Given the description of an element on the screen output the (x, y) to click on. 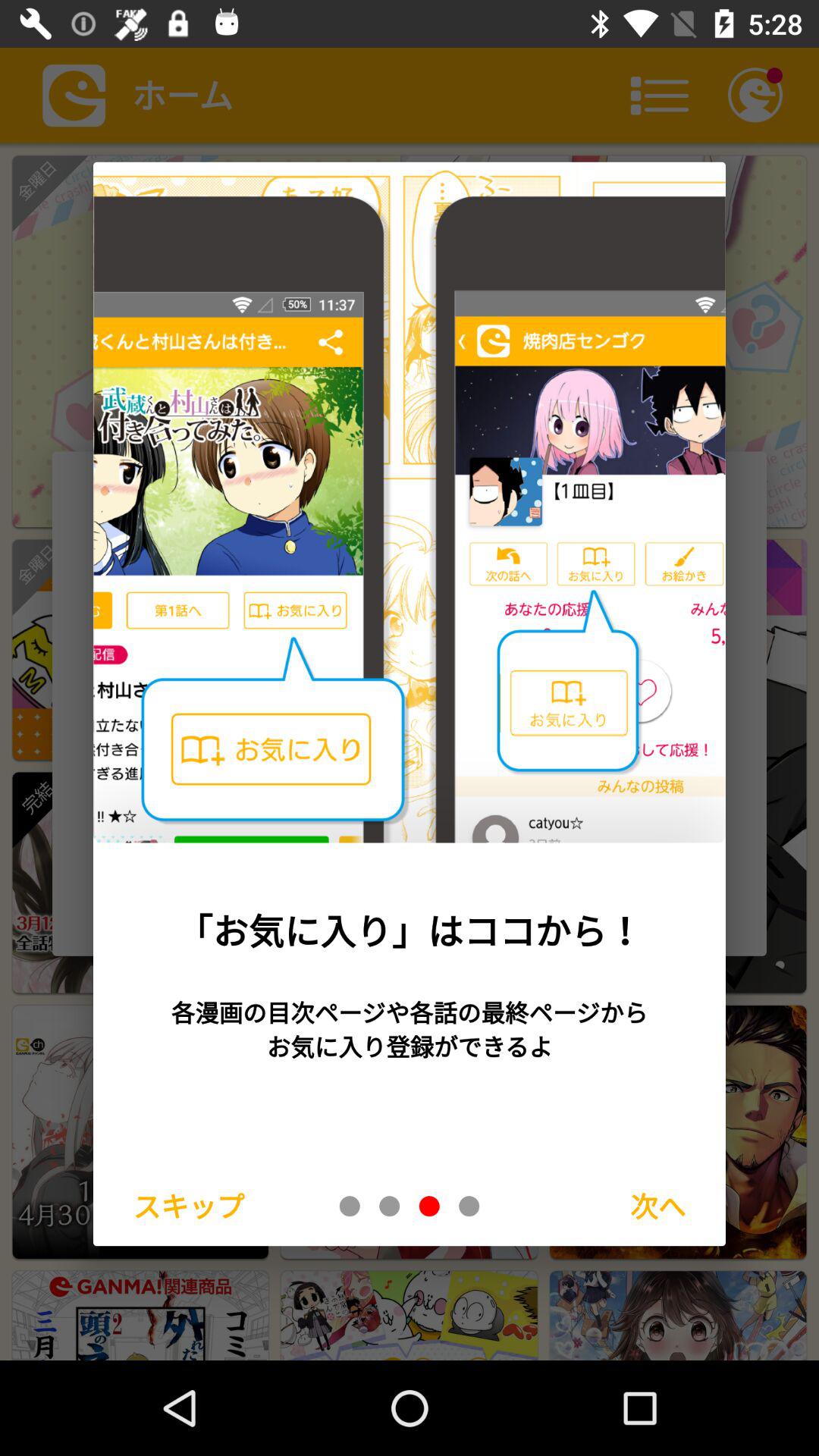
choose page (389, 1206)
